Given the description of an element on the screen output the (x, y) to click on. 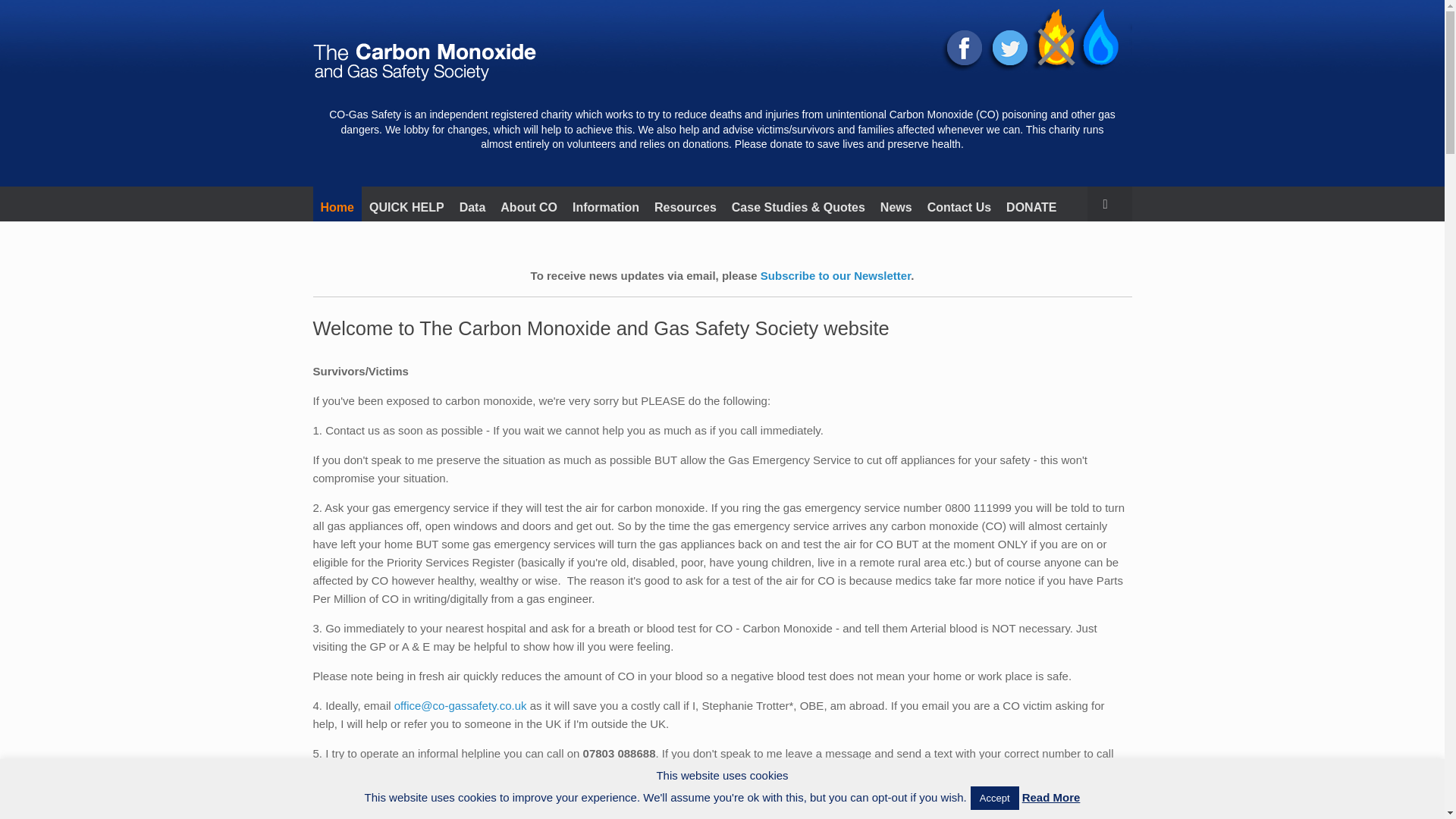
Data (472, 203)
About CO (528, 203)
Information (605, 203)
QUICK HELP (406, 203)
CO-Gas Safety (424, 57)
Home (337, 203)
